Given the description of an element on the screen output the (x, y) to click on. 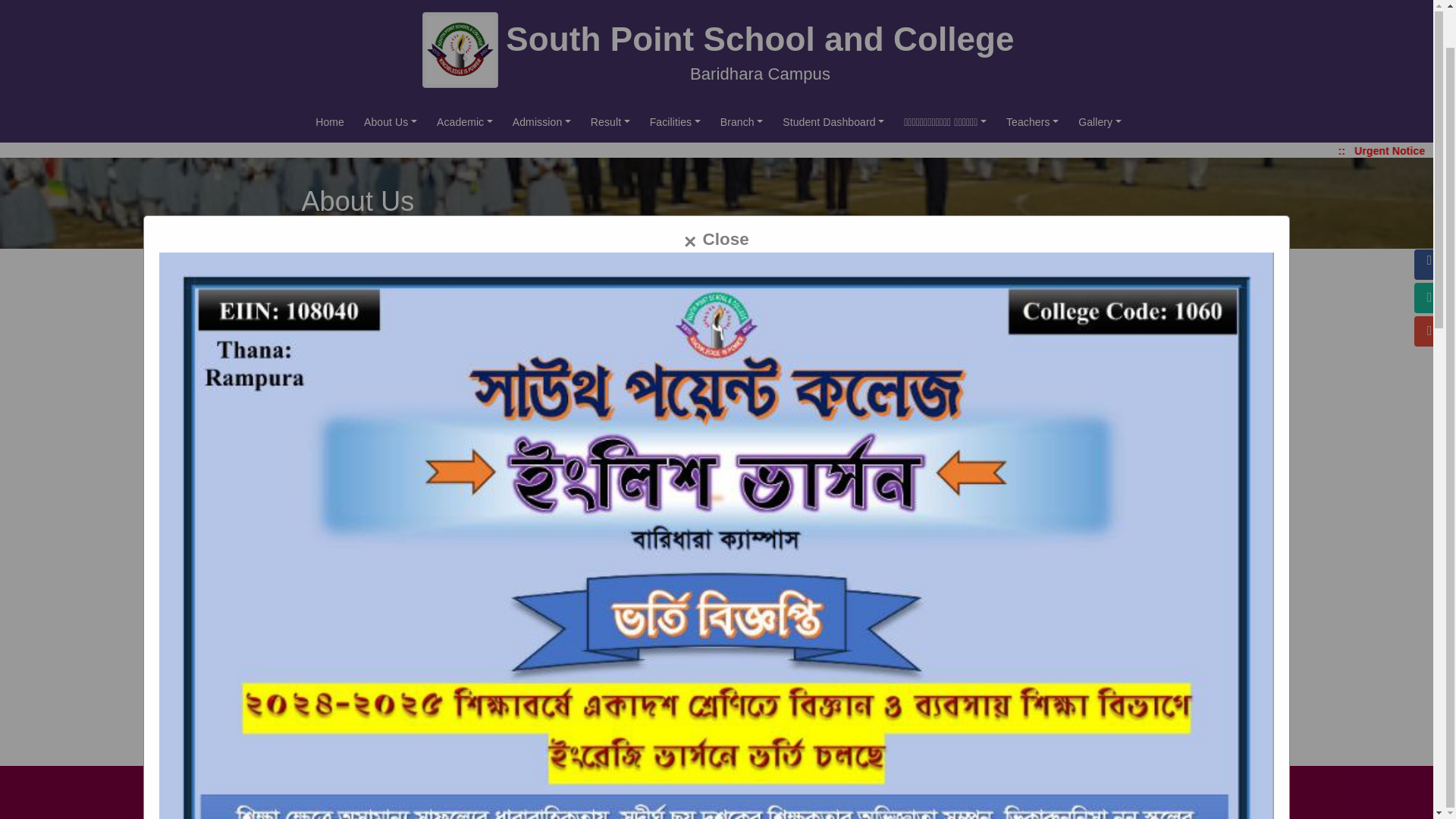
Teachers (1032, 121)
Student Dashboard (832, 121)
About Us (390, 121)
Branch (742, 121)
Facilities (674, 121)
Admission (541, 121)
Result (610, 121)
Academic (464, 121)
